Given the description of an element on the screen output the (x, y) to click on. 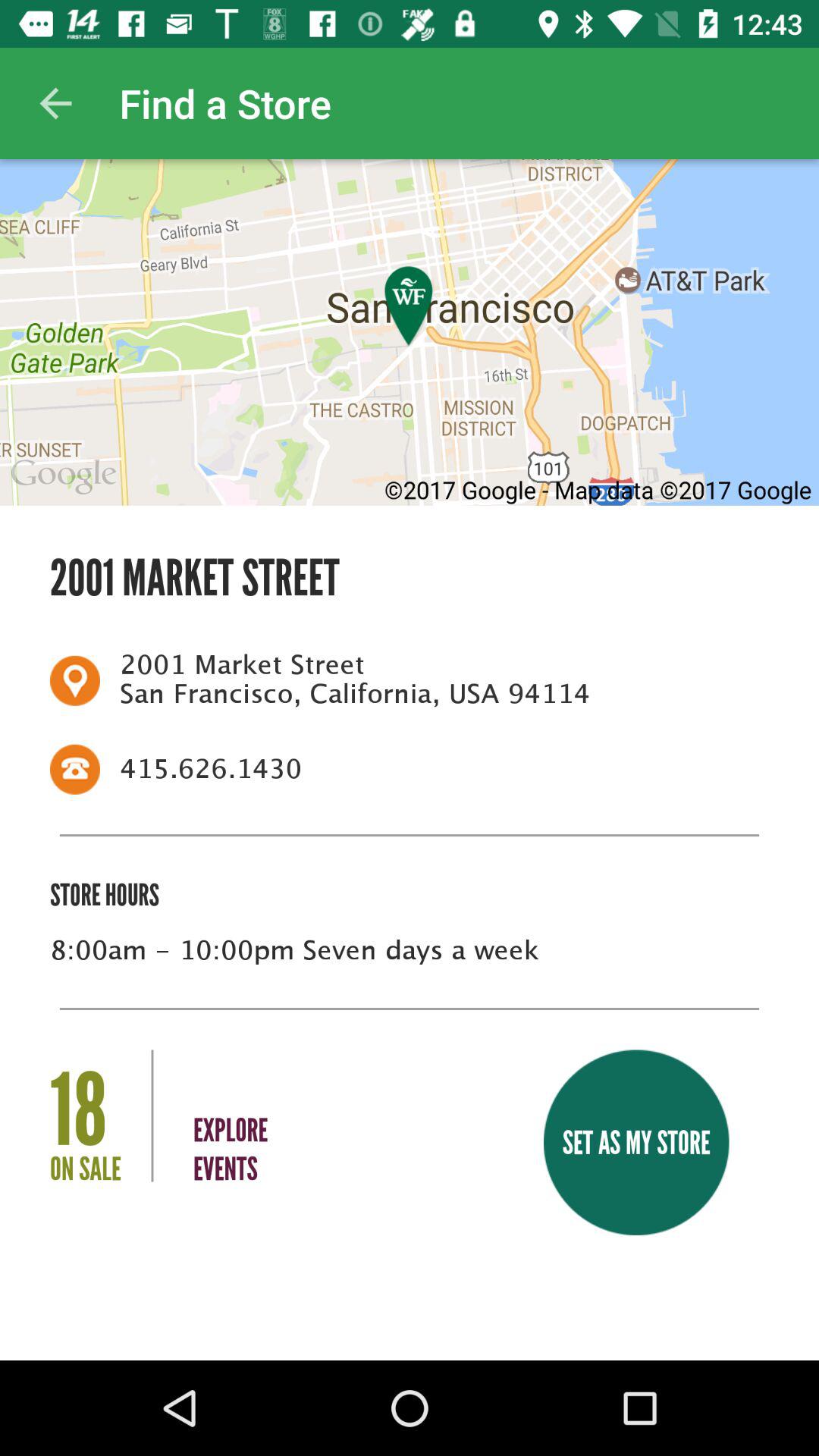
launch the item to the left of the find a store item (55, 103)
